Given the description of an element on the screen output the (x, y) to click on. 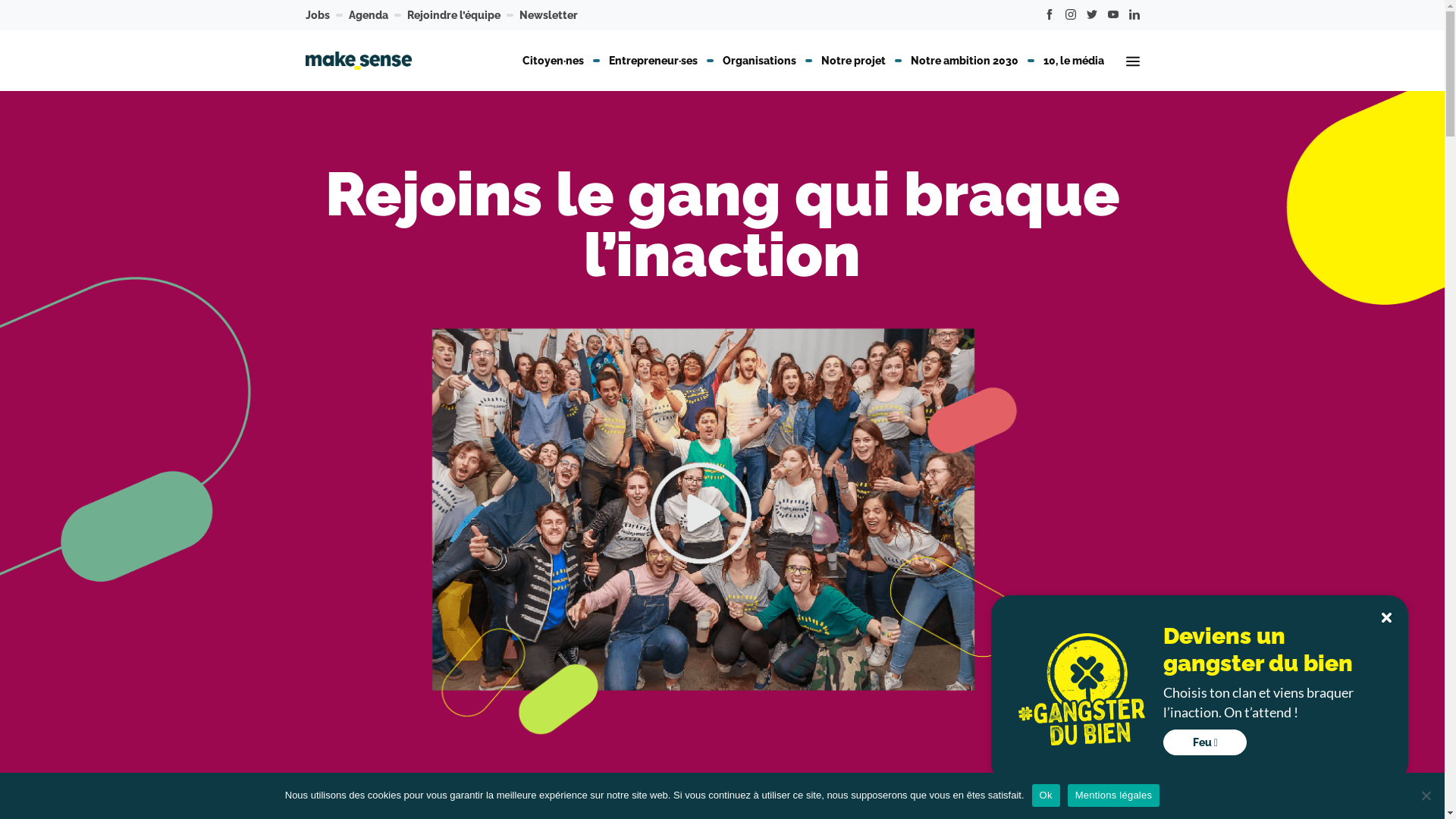
Newsletter Element type: text (547, 14)
Ok Element type: text (1046, 795)
Notre ambition 2030 Element type: text (964, 60)
Notre projet Element type: text (853, 60)
Find us on Facebook Element type: hover (1049, 14)
Find us on Instagram Element type: hover (1070, 14)
Fermer Element type: text (1386, 616)
Find us on Linkedin Element type: hover (1134, 14)
Open video popin Element type: text (721, 524)
Agenda Element type: text (368, 14)
Ouvrir Element type: text (1132, 59)
Go back to homepage Element type: hover (357, 60)
Find us on Twitter Element type: hover (1091, 14)
Organisations Element type: text (759, 60)
Jobs Element type: text (316, 14)
Find us on Youtube Element type: hover (1112, 14)
